Given the description of an element on the screen output the (x, y) to click on. 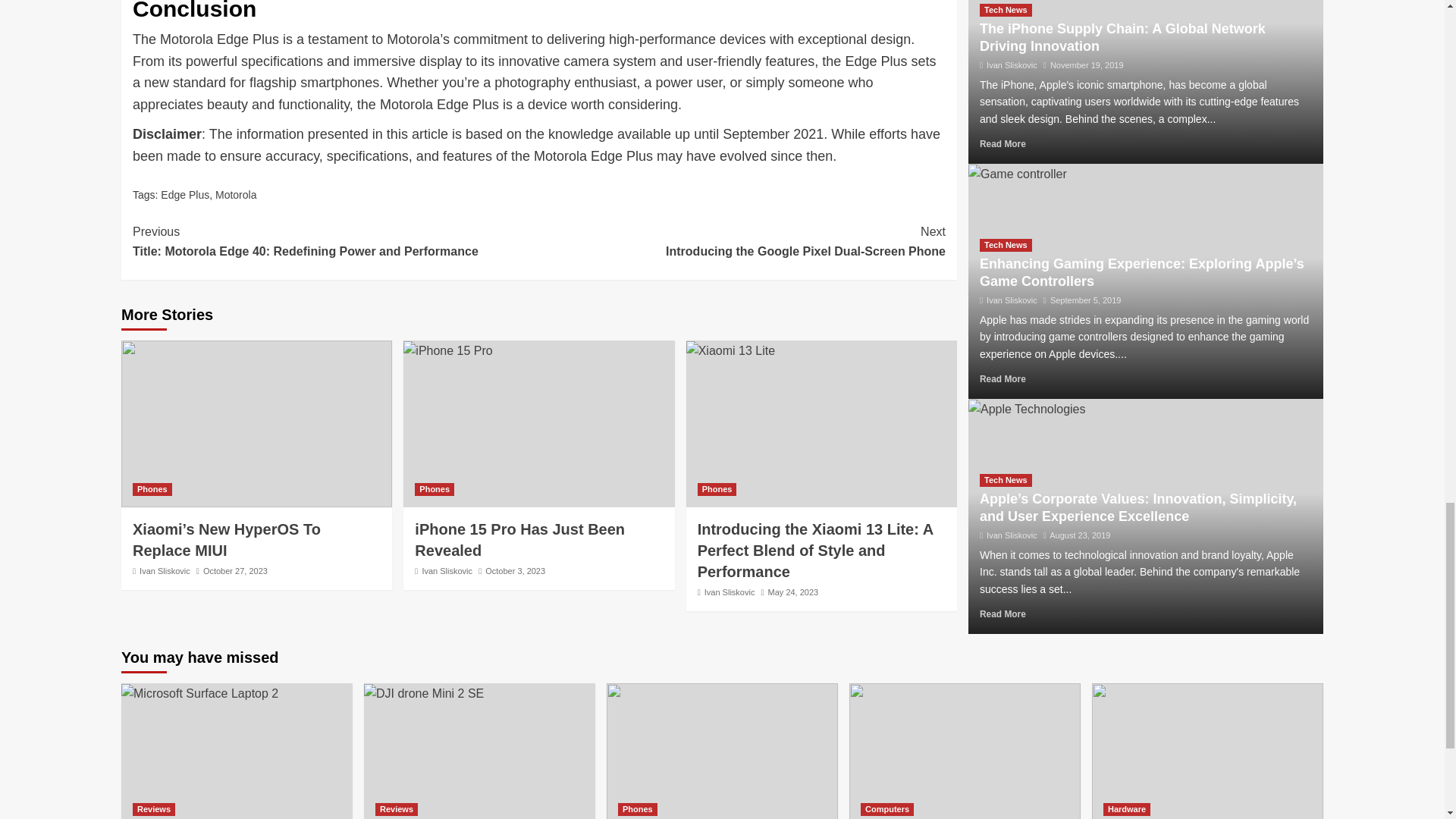
Ivan Sliskovic (729, 592)
October 27, 2023 (235, 570)
May 24, 2023 (793, 592)
Phones (716, 489)
Edge Plus (184, 194)
Phones (151, 489)
iPhone 15 Pro Has Just Been Revealed (519, 539)
October 3, 2023 (514, 570)
